Given the description of an element on the screen output the (x, y) to click on. 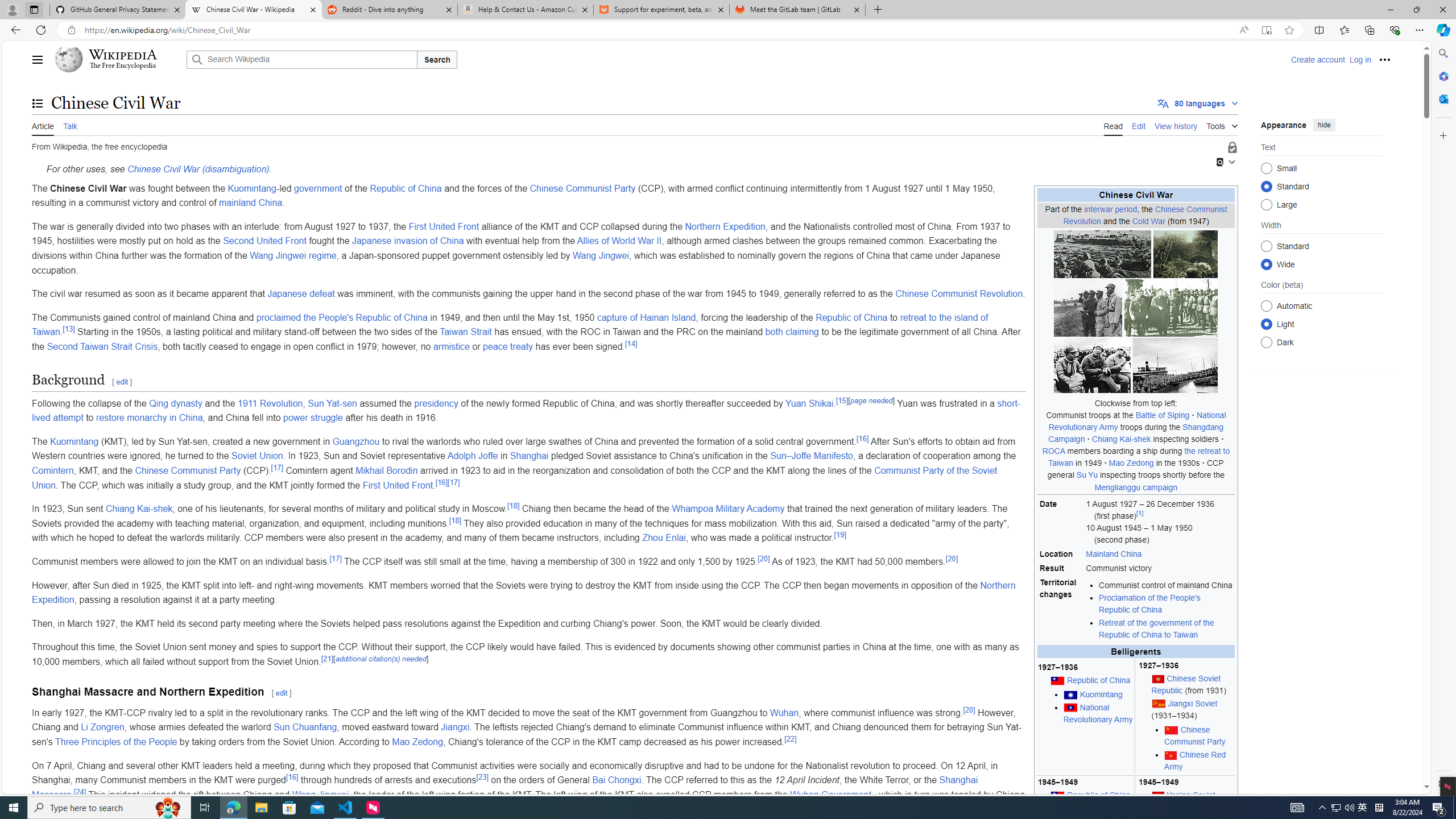
Wang Jingwei regime (292, 255)
[18] (454, 519)
Help & Contact Us - Amazon Customer Service - Sleeping (525, 9)
Shangdang Campaign (1136, 432)
Proclamation of the People's Republic of China (1150, 603)
[22] (790, 738)
The Free Encyclopedia (121, 65)
Shanghai (528, 456)
interwar period (1110, 208)
Standard (1266, 245)
Create account (1317, 58)
Tools (1222, 124)
